Given the description of an element on the screen output the (x, y) to click on. 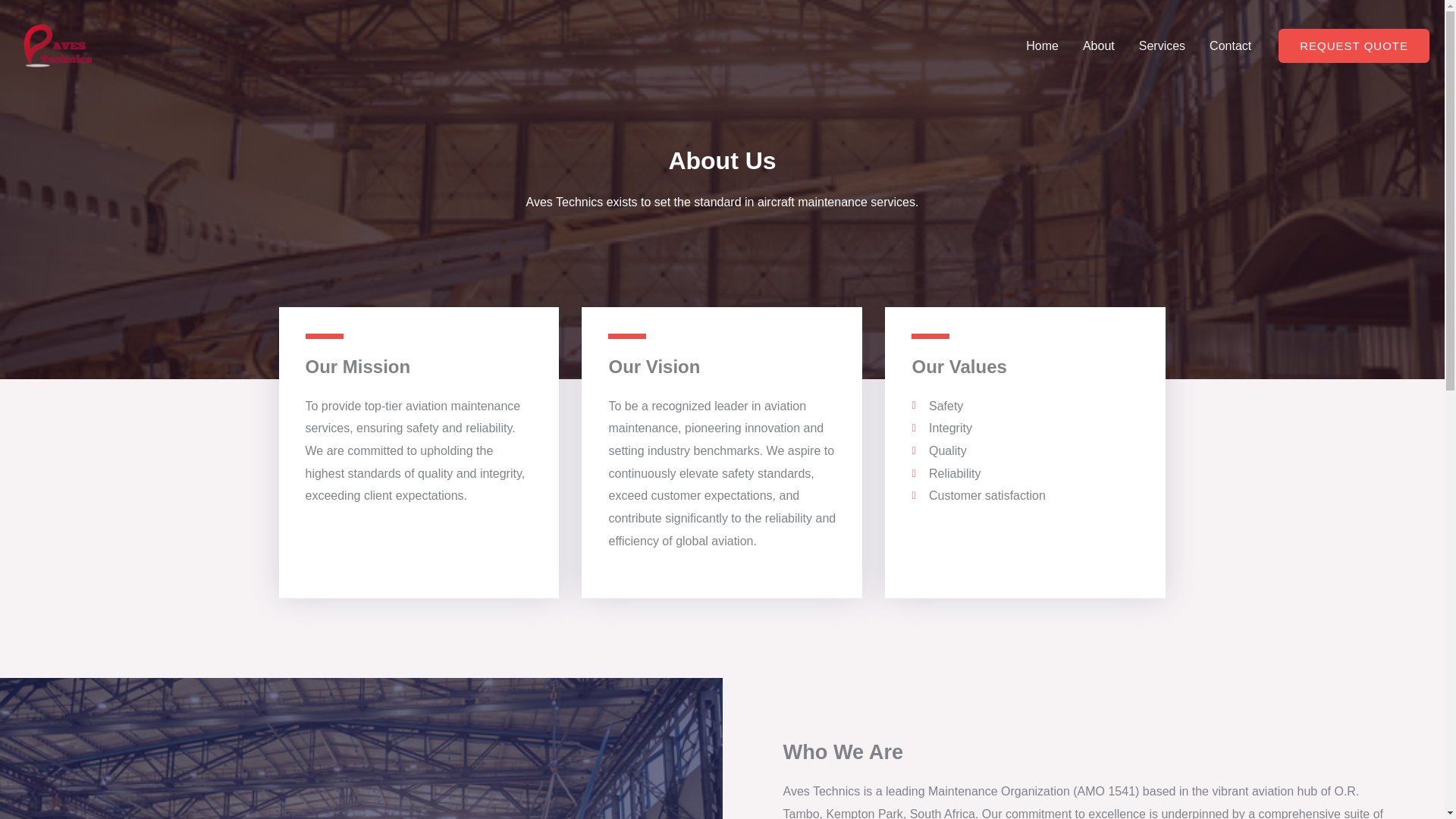
Services (1161, 45)
Home (1041, 45)
Contact (1229, 45)
About (1098, 45)
REQUEST QUOTE (1353, 45)
